Given the description of an element on the screen output the (x, y) to click on. 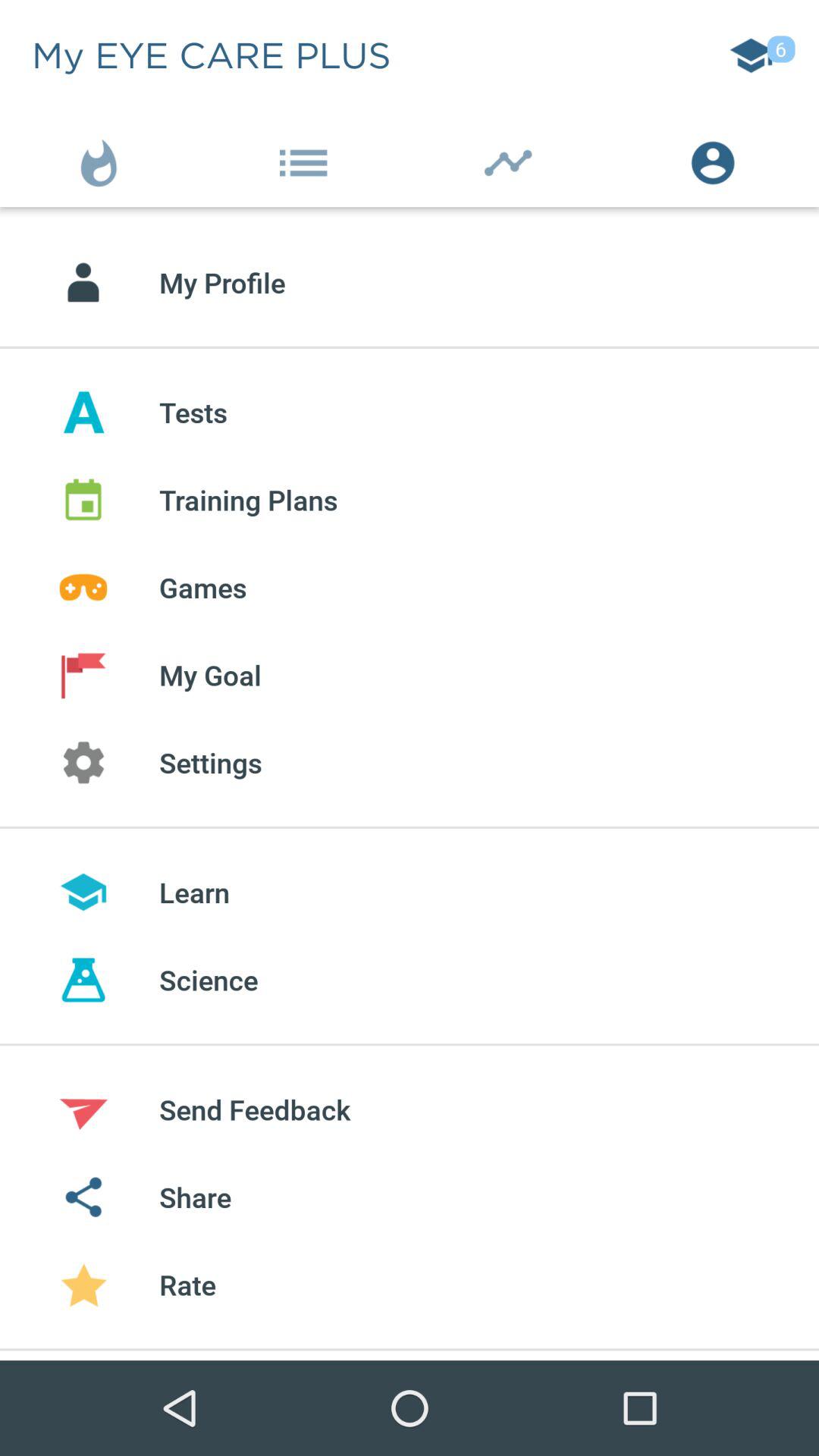
choose the icon next to    item (102, 159)
